Given the description of an element on the screen output the (x, y) to click on. 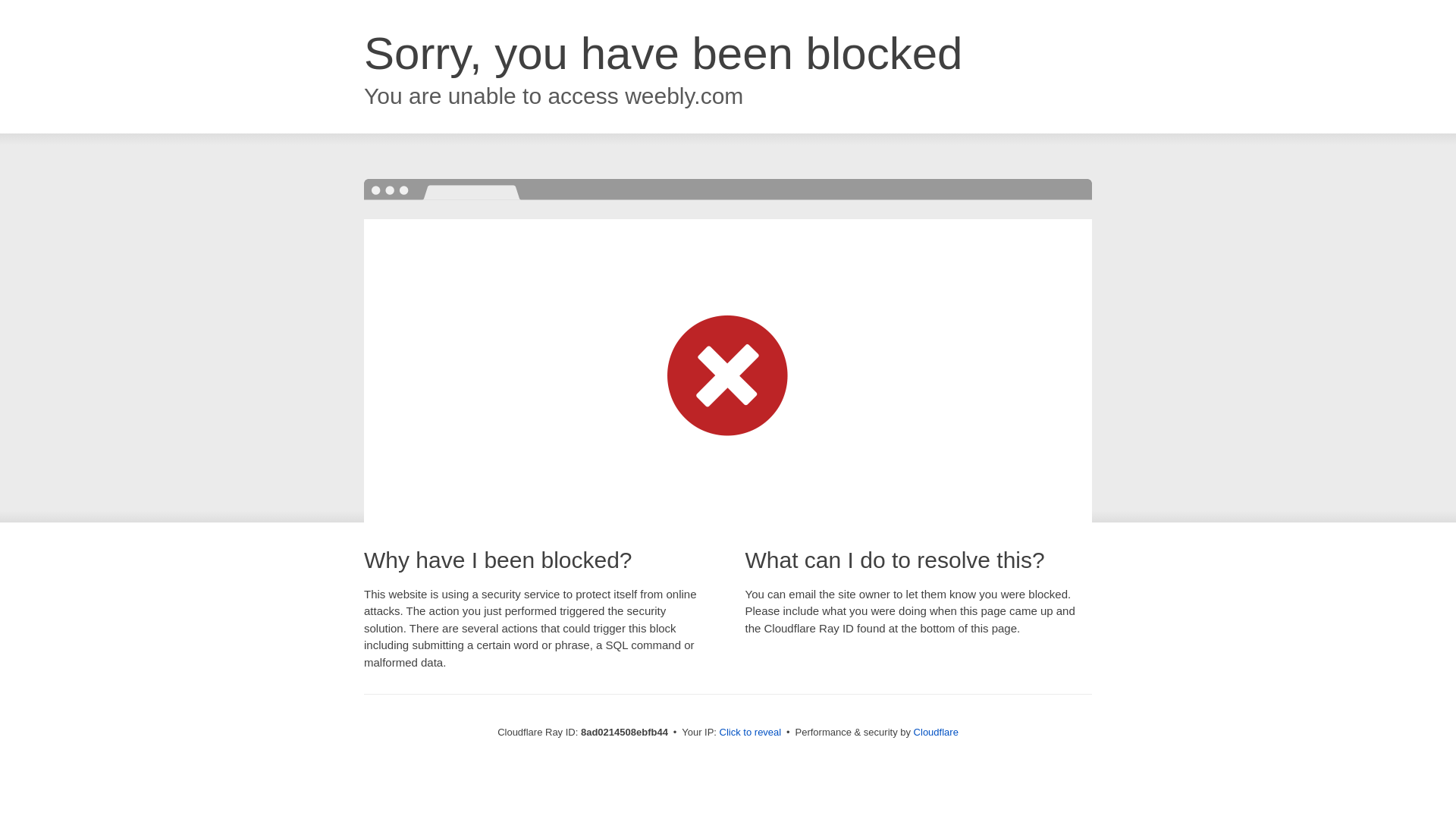
Cloudflare (936, 731)
Click to reveal (750, 732)
